Given the description of an element on the screen output the (x, y) to click on. 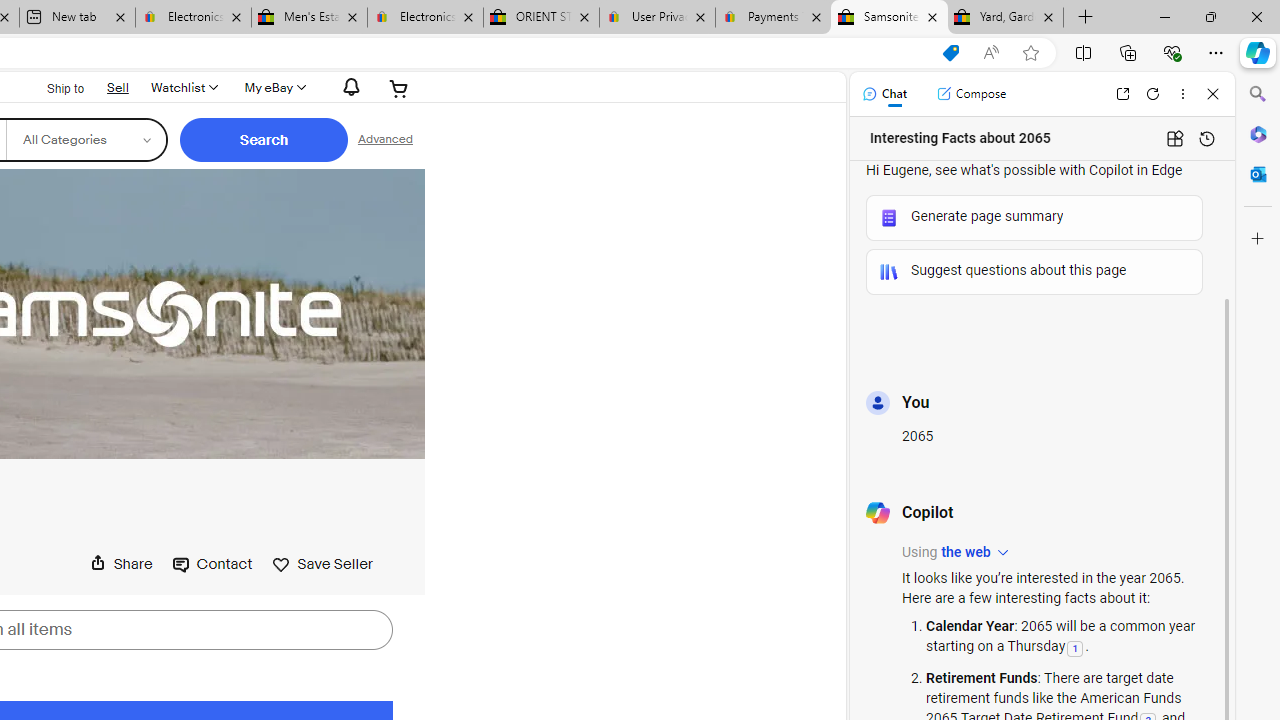
WatchlistExpand Watch List (183, 88)
Sell (118, 87)
Select a category for search (85, 139)
Yard, Garden & Outdoor Living (1005, 17)
Chat (884, 93)
Compose (971, 93)
Share this page (121, 563)
Sell (117, 86)
Ship to (52, 89)
